Given the description of an element on the screen output the (x, y) to click on. 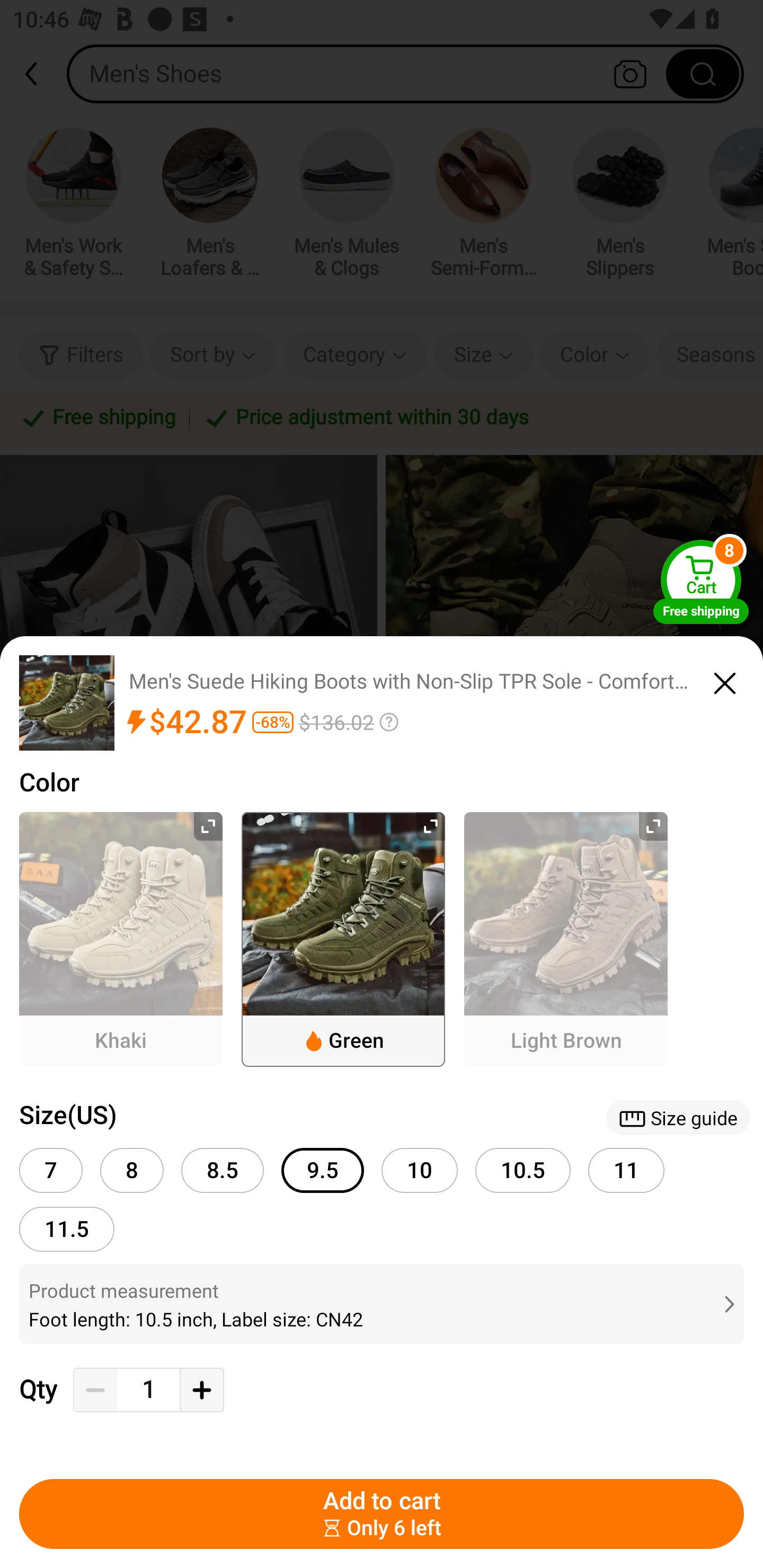
Cart Free shipping Cart (701, 581)
close (724, 680)
Khaki (120, 939)
Green ￼Green (342, 939)
Light Brown (565, 939)
￼Size guide (677, 1117)
 7 (50, 1170)
 8 (131, 1170)
 8.5 (222, 1170)
 9.5 (322, 1170)
 10 (419, 1170)
 10.5 (522, 1170)
 11 (626, 1170)
 11.5 (66, 1229)
Decrease Quantity Button (95, 1389)
Add Quantity Button (201, 1389)
1 (148, 1389)
Add to cart ￼￼Only 6 left (381, 1513)
